Given the description of an element on the screen output the (x, y) to click on. 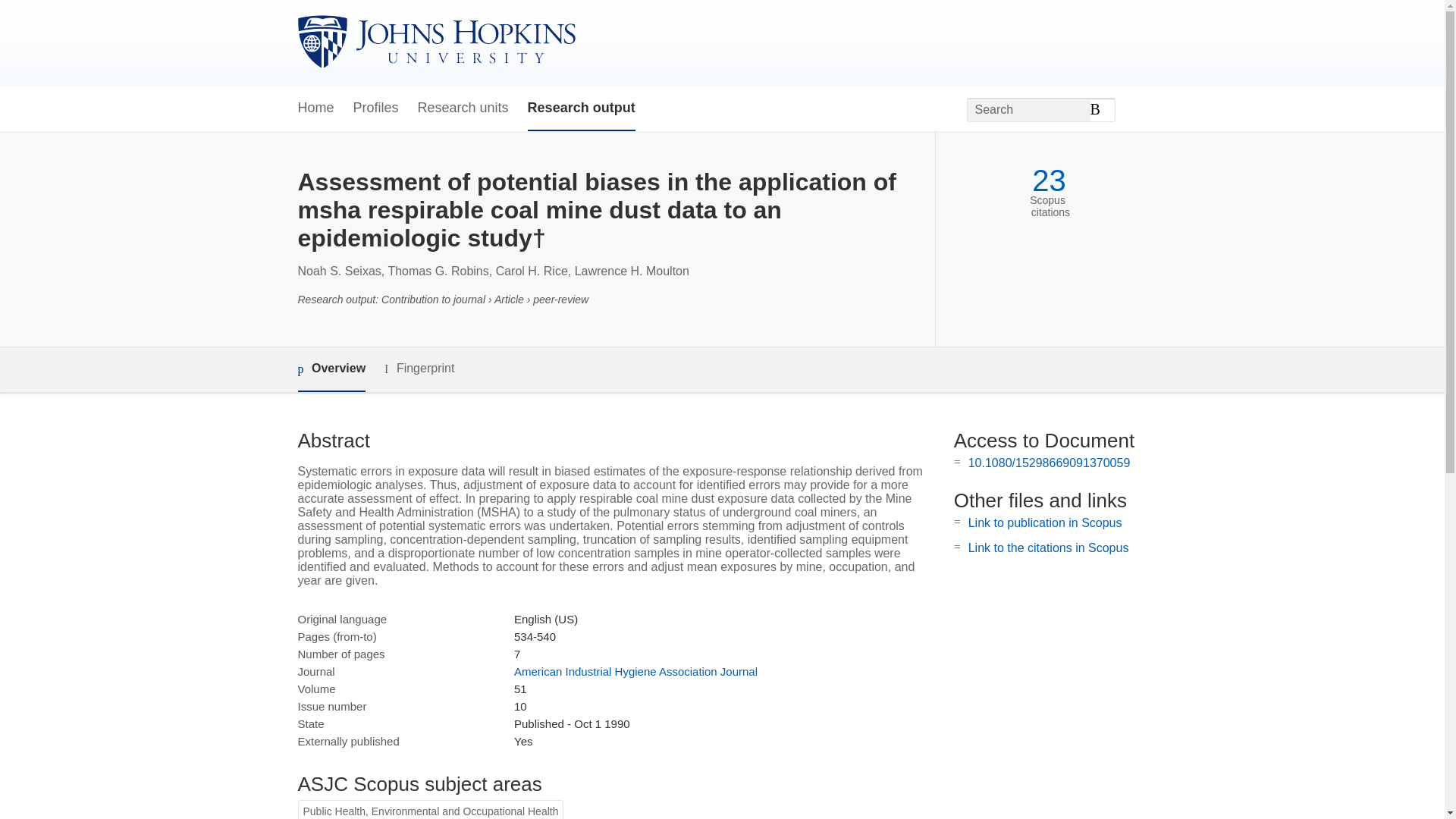
Overview (331, 369)
Fingerprint (419, 368)
Link to the citations in Scopus (1048, 547)
Link to publication in Scopus (1045, 522)
Research units (462, 108)
American Industrial Hygiene Association Journal (635, 671)
Profiles (375, 108)
Johns Hopkins University Home (436, 43)
23 (1048, 180)
